Given the description of an element on the screen output the (x, y) to click on. 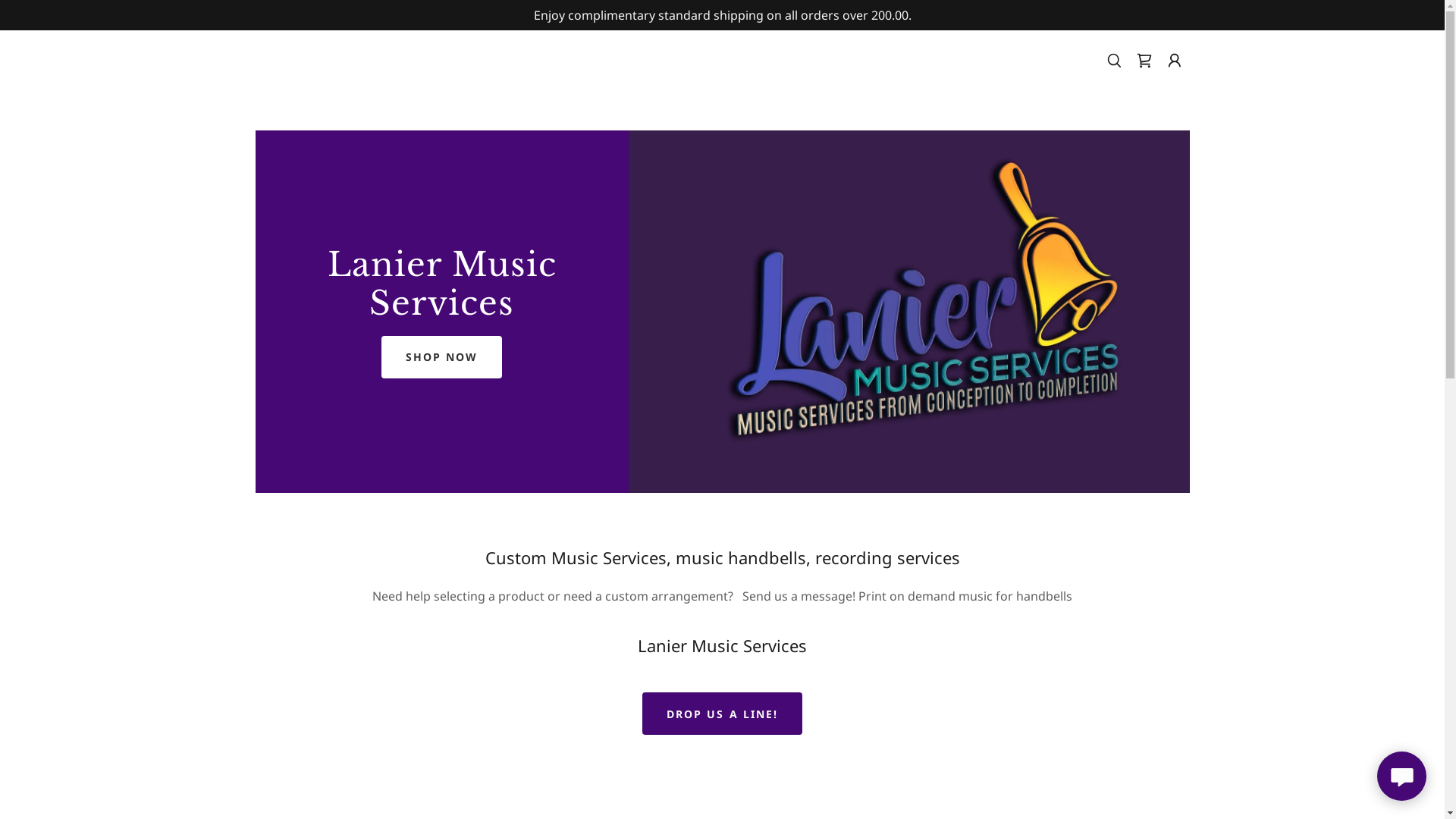
DROP US A LINE! Element type: text (721, 713)
Lanier Music Services Element type: text (441, 309)
SHOP NOW Element type: text (441, 356)
